Given the description of an element on the screen output the (x, y) to click on. 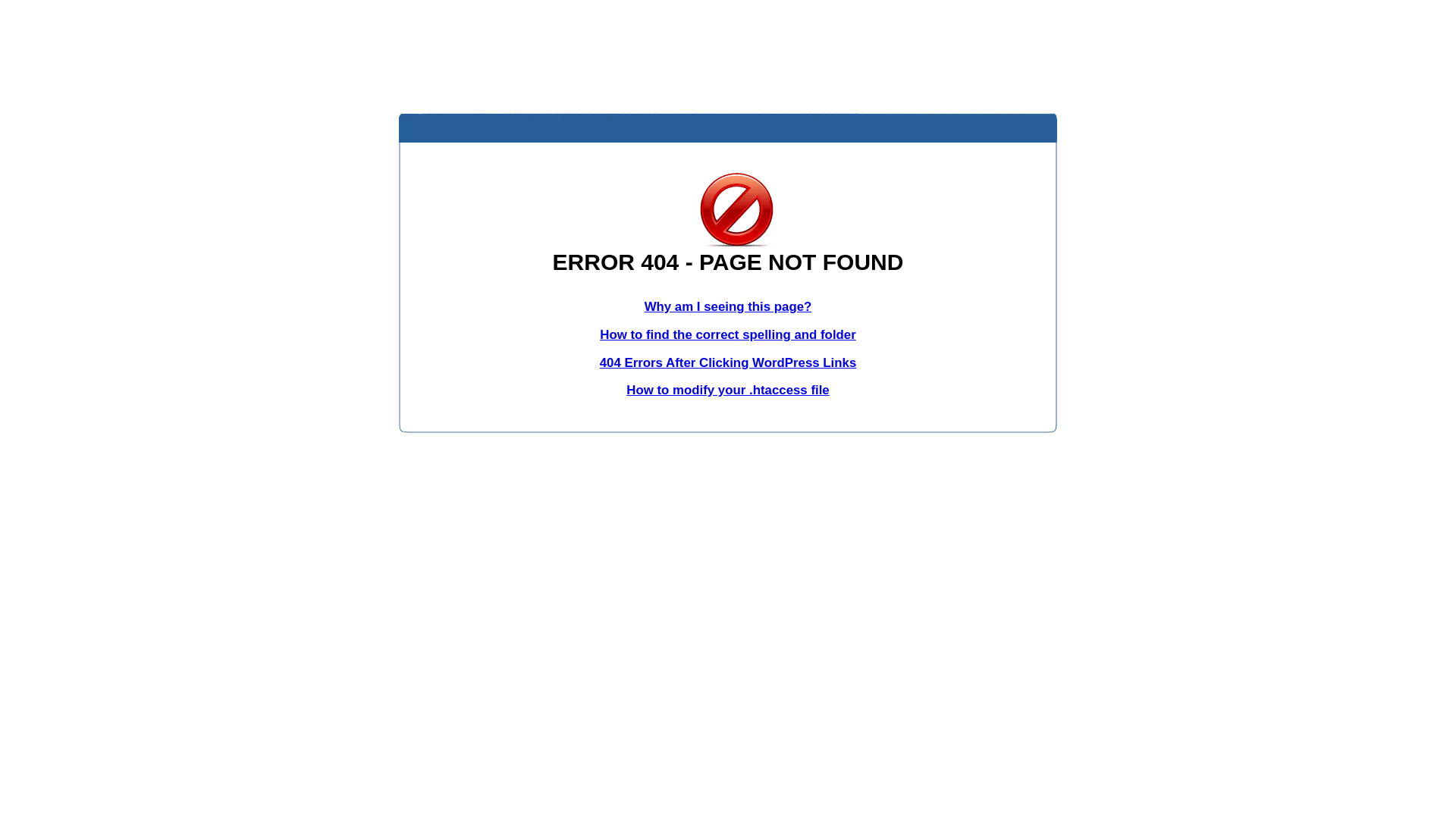
404 Errors After Clicking WordPress Links Element type: text (727, 362)
Why am I seeing this page? Element type: text (728, 306)
How to modify your .htaccess file Element type: text (727, 389)
How to find the correct spelling and folder Element type: text (727, 334)
